Given the description of an element on the screen output the (x, y) to click on. 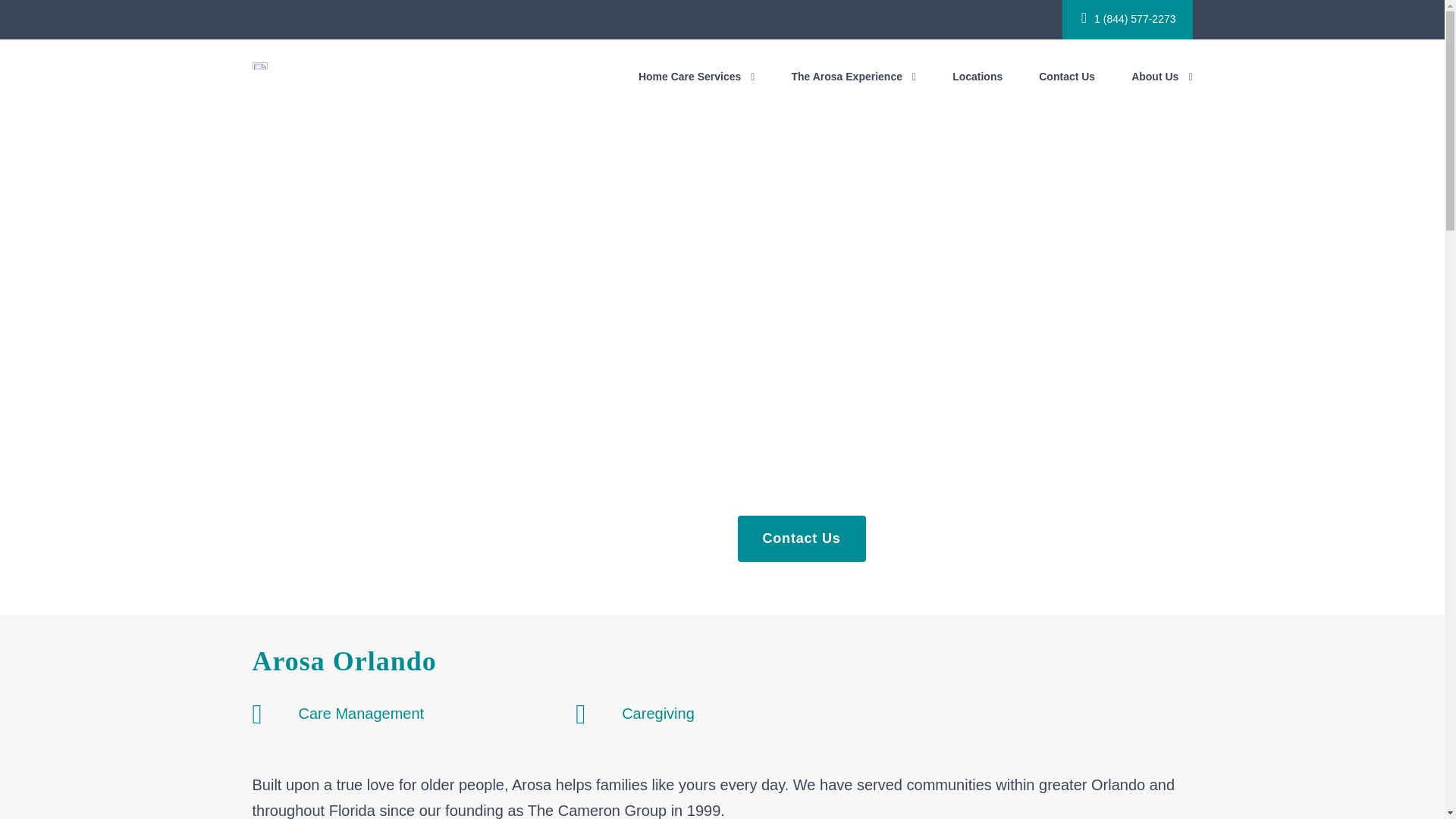
Home Care Services (697, 91)
The Arosa Experience (852, 91)
Contact Us (800, 538)
About Us (1161, 91)
Care Management (361, 713)
Arosacare.com (258, 66)
Contact Us (1066, 91)
Caregiving (657, 713)
Locations (977, 91)
